Given the description of an element on the screen output the (x, y) to click on. 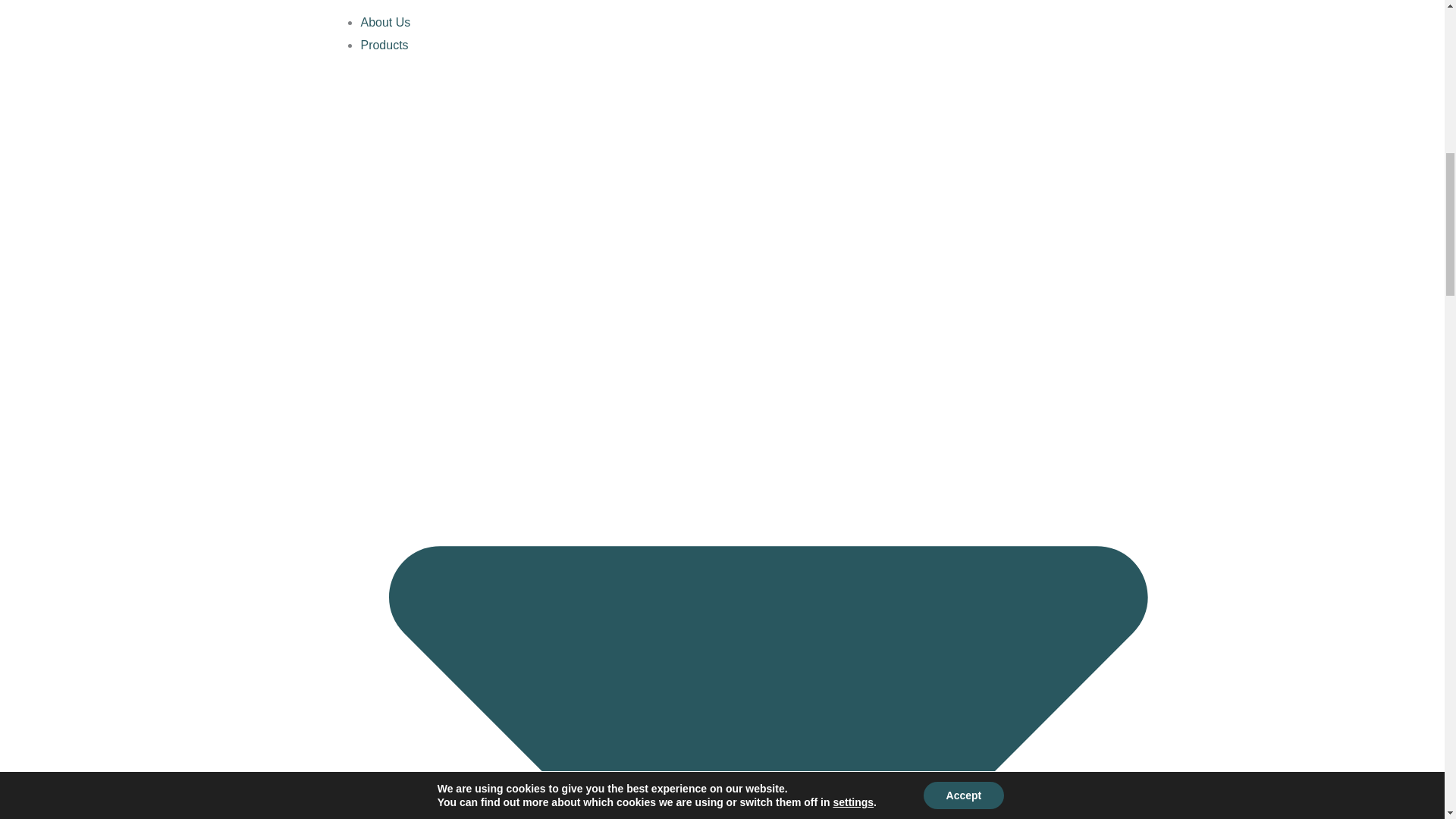
Handles for grates (435, 618)
Floor grates (418, 573)
Services (382, 686)
Steel structures (427, 663)
Stair treads (416, 596)
Download (386, 730)
Contact (380, 753)
Ladder rungs (421, 640)
References (390, 708)
